Given the description of an element on the screen output the (x, y) to click on. 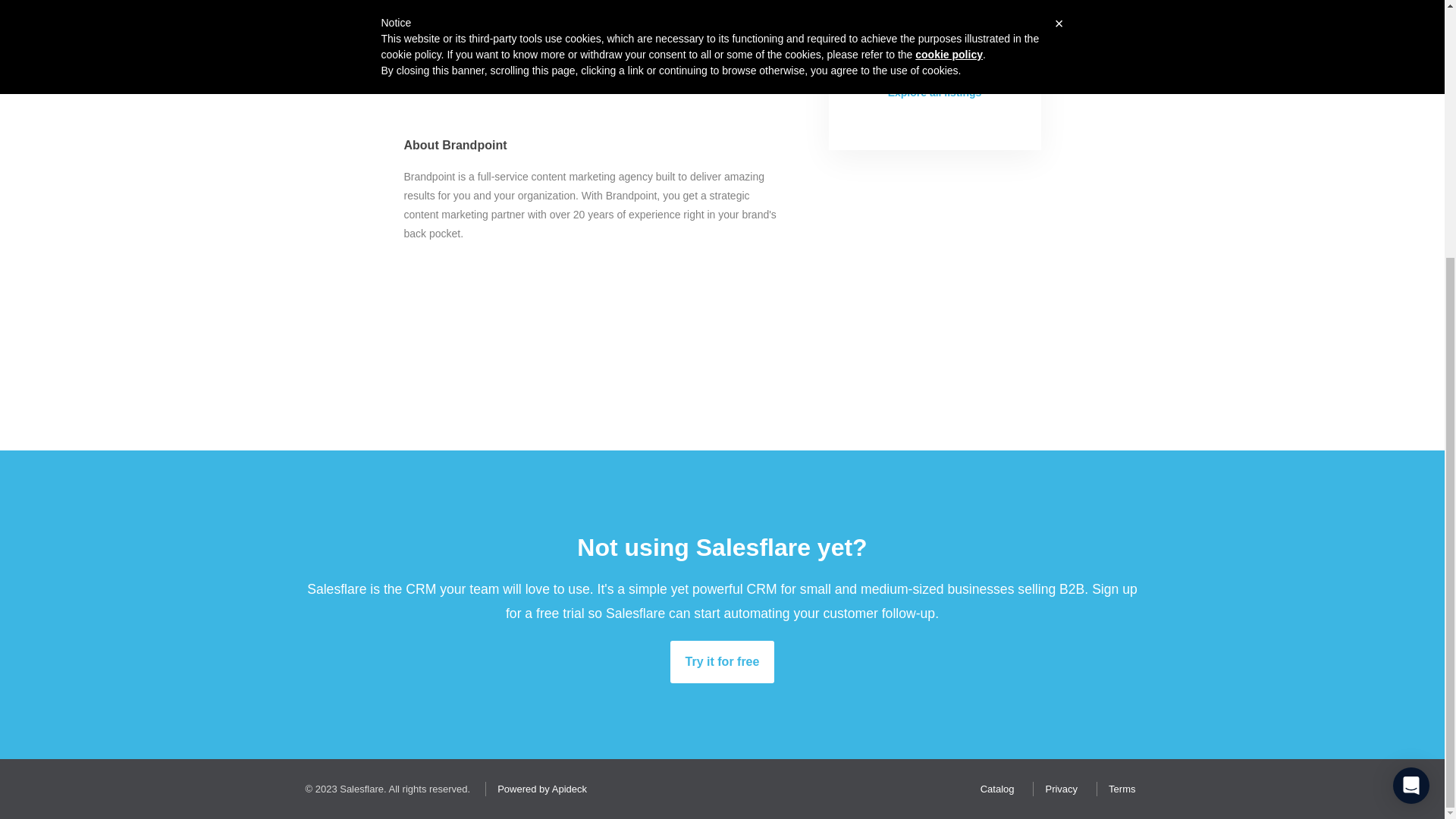
Explore all listings (934, 92)
Privacy (1057, 789)
Powered by Apideck (538, 789)
Try it for free (721, 661)
Terms (1117, 789)
Request this listing (934, 37)
Catalog (993, 789)
